Given the description of an element on the screen output the (x, y) to click on. 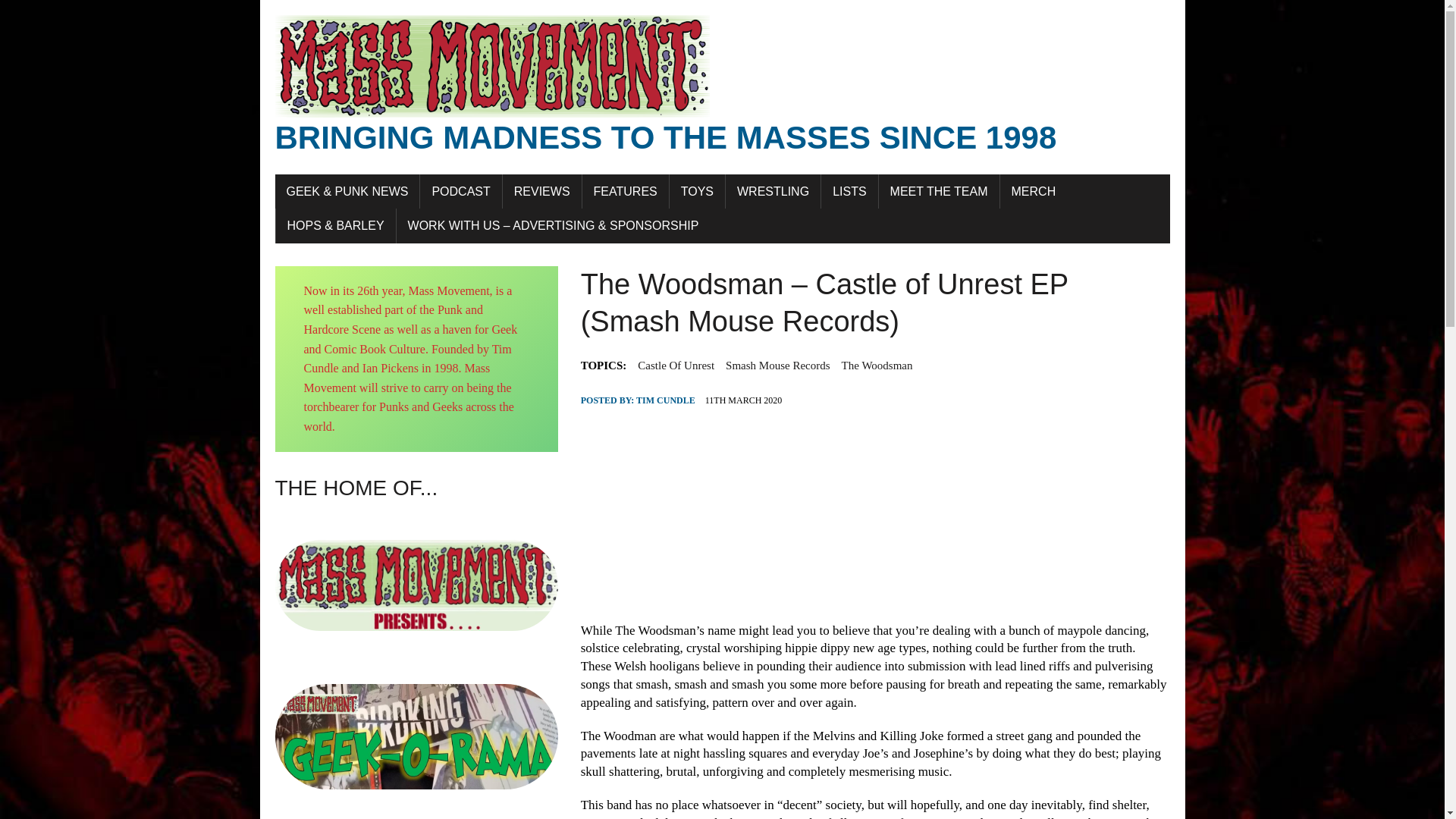
PODCAST (460, 191)
MERCH (1033, 191)
WRESTLING (773, 191)
FEATURES (625, 191)
Bringing Madness to the Masses since 1998 (722, 86)
TOYS (697, 191)
The Woodsman (876, 365)
REVIEWS (541, 191)
Smash Mouse Records (777, 365)
BRINGING MADNESS TO THE MASSES SINCE 1998 (722, 86)
